Given the description of an element on the screen output the (x, y) to click on. 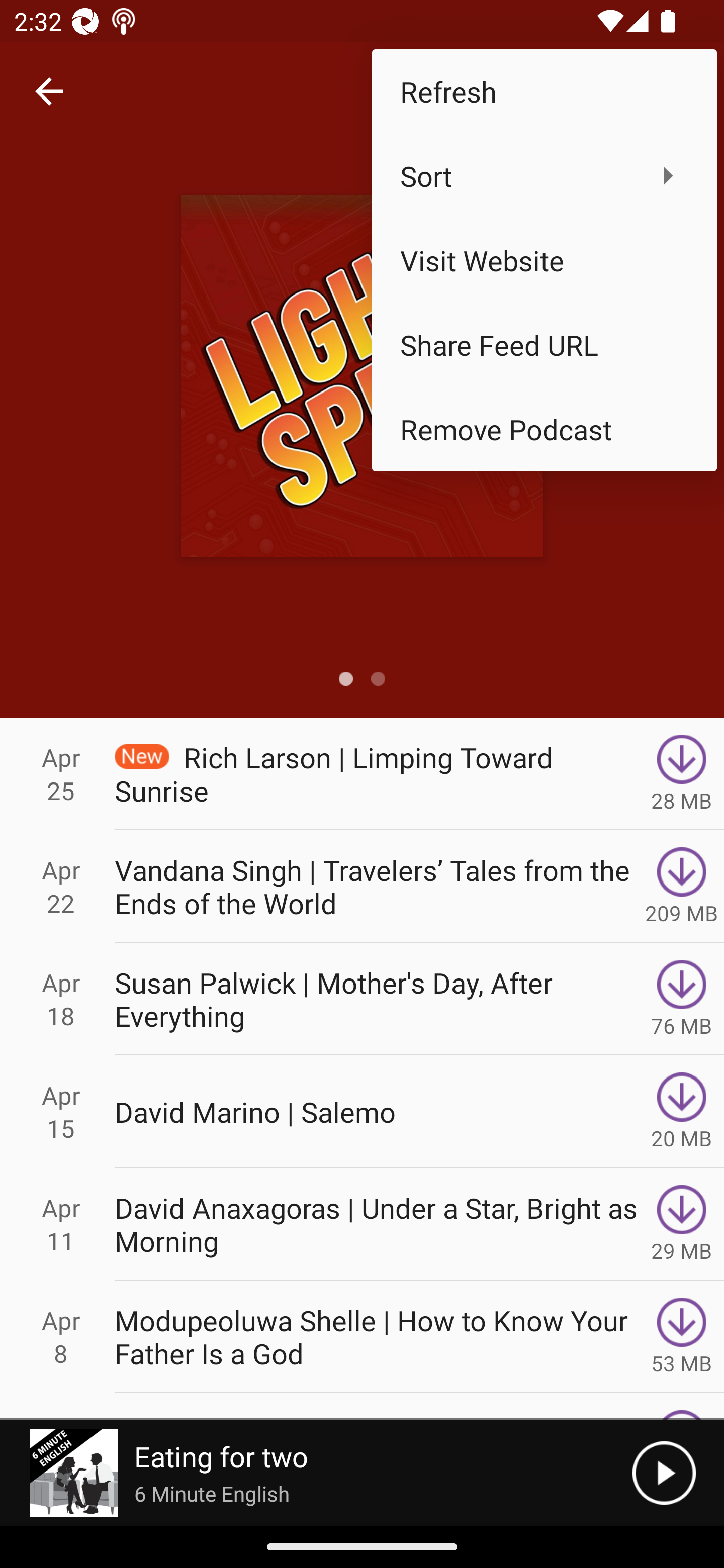
Refresh (544, 90)
Sort (544, 175)
Visit Website (544, 259)
Share Feed URL (544, 344)
Remove Podcast (544, 429)
